Given the description of an element on the screen output the (x, y) to click on. 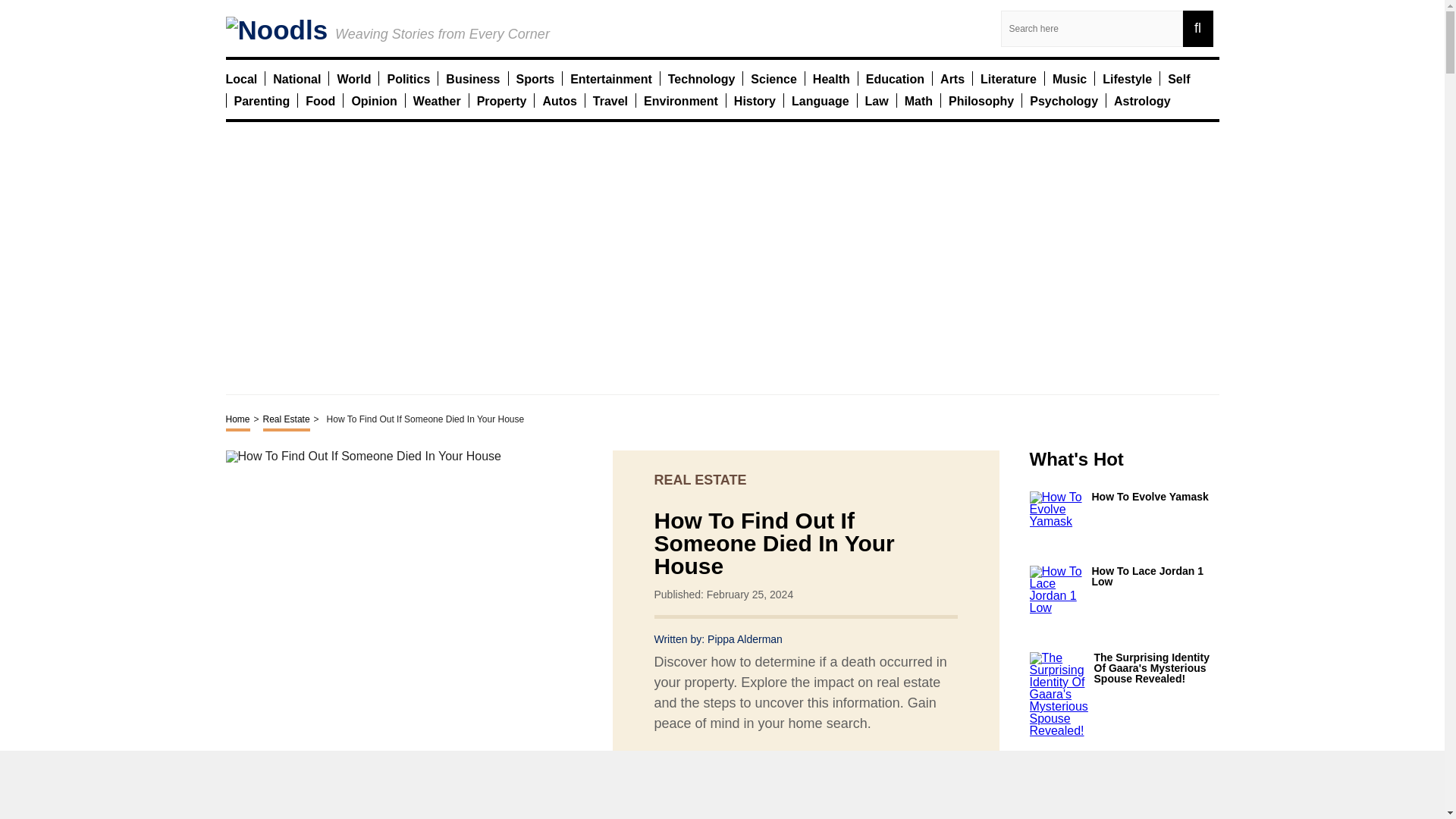
Local (241, 78)
World (353, 78)
National (296, 78)
Music (1069, 78)
Environment (680, 100)
Education (895, 78)
History (754, 100)
Business (472, 78)
Opinion (373, 100)
Technology (701, 78)
